Given the description of an element on the screen output the (x, y) to click on. 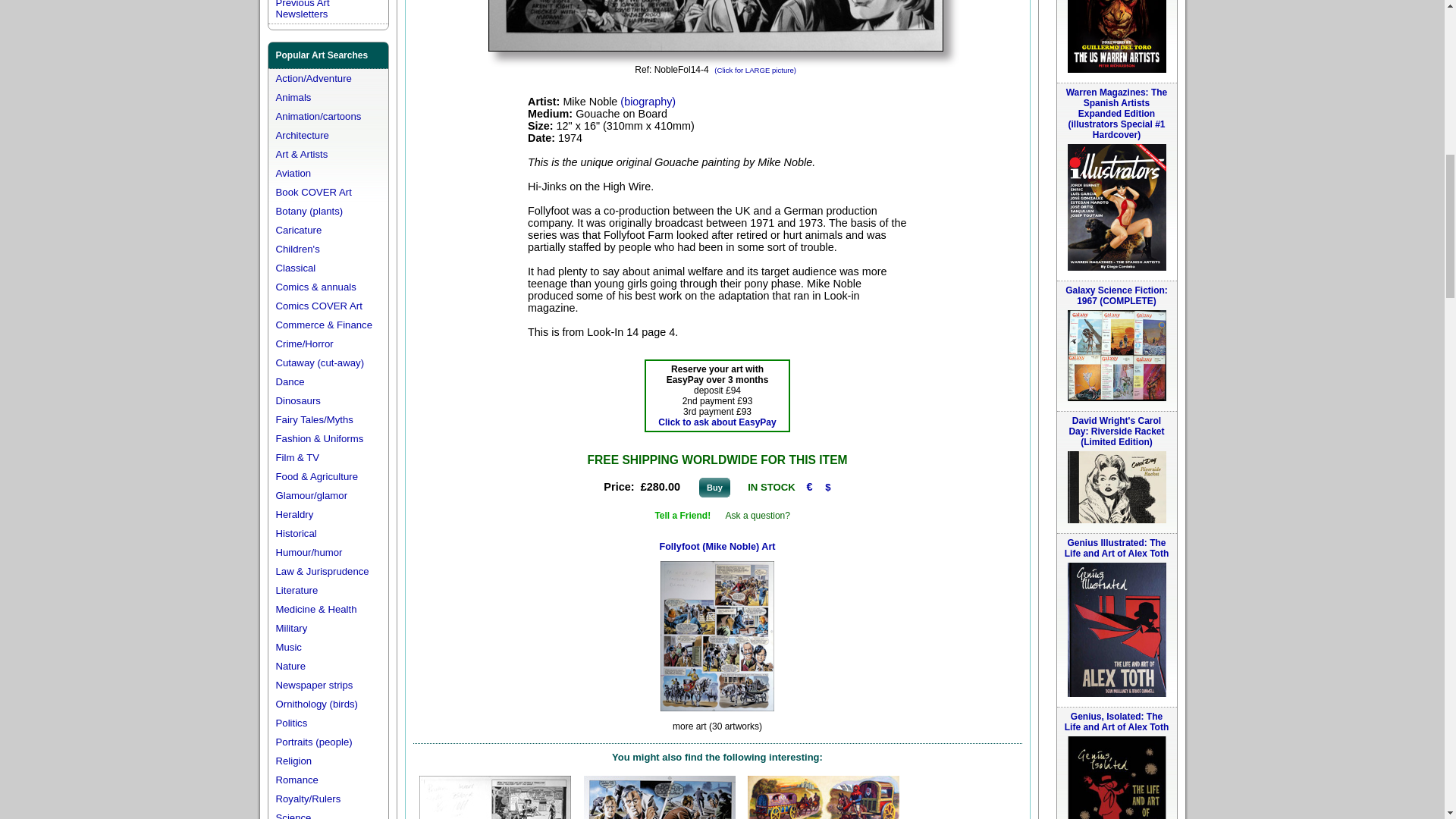
Buy (714, 487)
